Given the description of an element on the screen output the (x, y) to click on. 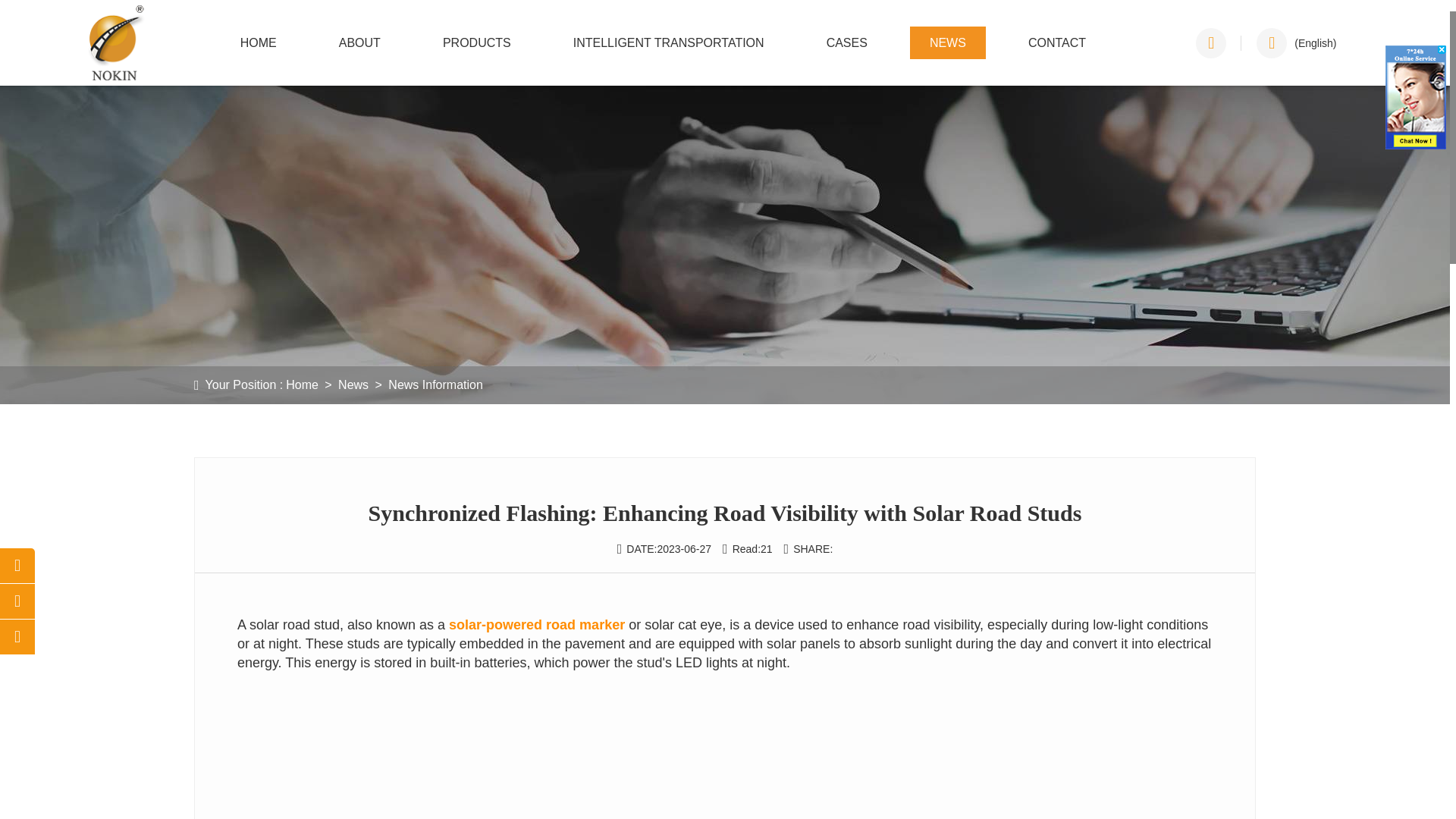
ABOUT (359, 42)
CONTACT (1057, 42)
HOME (259, 42)
NEWS (947, 42)
CASES (846, 42)
PRODUCTS (477, 42)
INTELLIGENT TRANSPORTATION (668, 42)
